Given the description of an element on the screen output the (x, y) to click on. 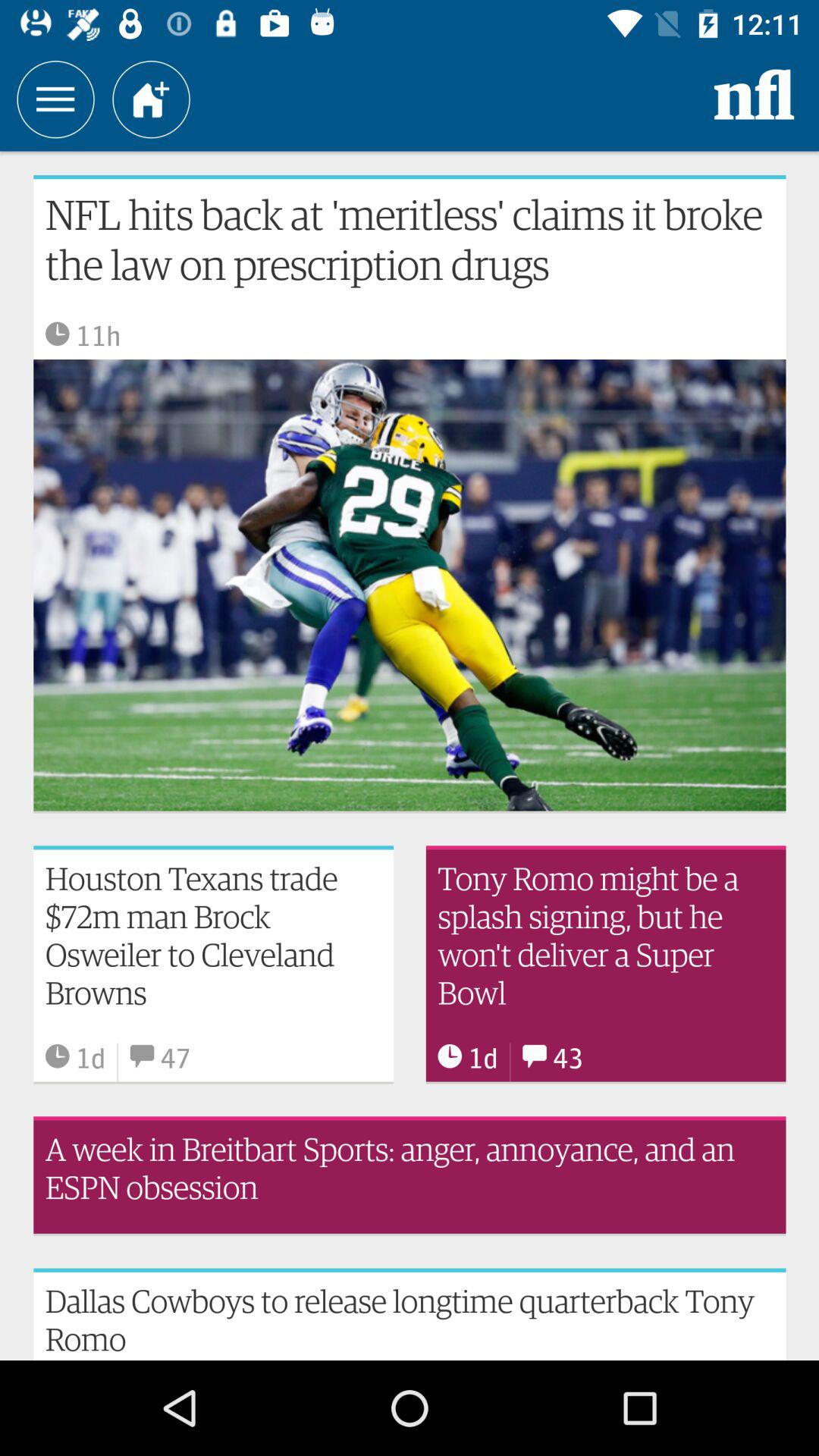
click on the button which is at the top left corner of the page (55, 99)
